Given the description of an element on the screen output the (x, y) to click on. 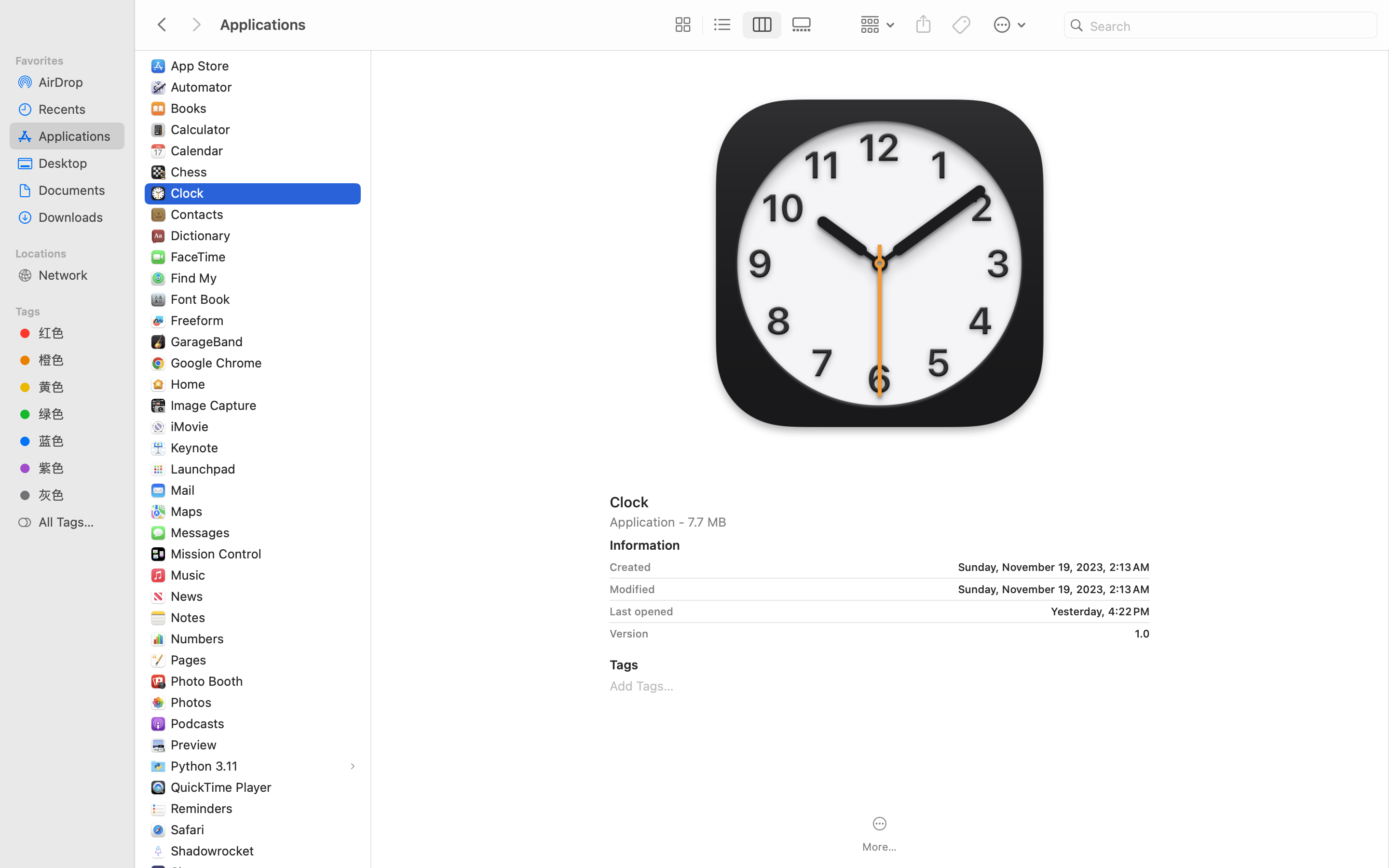
Version Element type: AXStaticText (628, 633)
Notes Element type: AXTextField (189, 616)
Find My Element type: AXTextField (195, 277)
Safari Element type: AXTextField (189, 829)
Shadowrocket Element type: AXTextField (214, 850)
